Given the description of an element on the screen output the (x, y) to click on. 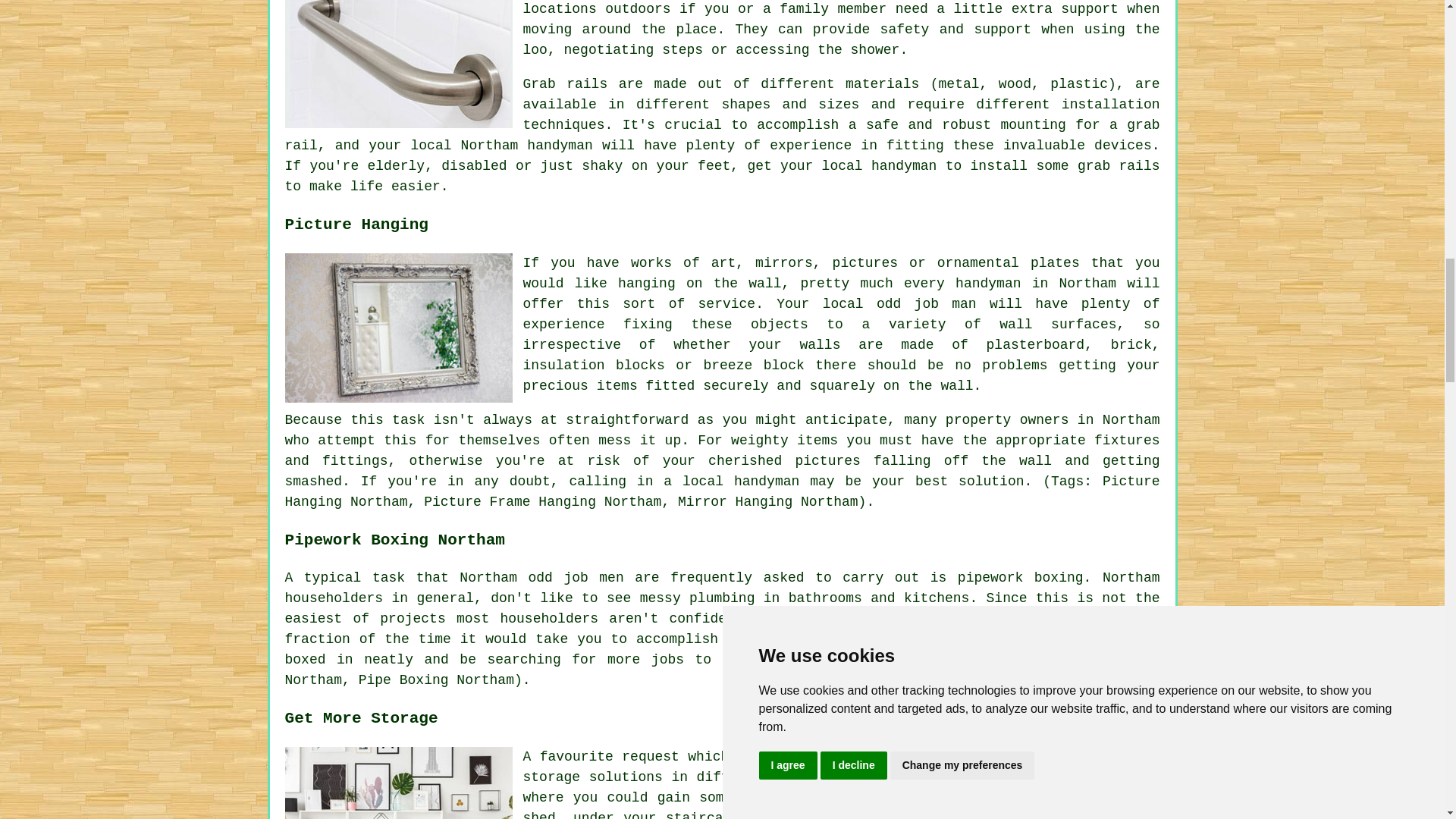
Handyman Installed Grab Rails Northam (398, 63)
odd job man (926, 303)
a local handyman (731, 480)
handyman (951, 639)
your local handyman (858, 165)
Handyman Storage Solutions Northam Devon (398, 782)
